Given the description of an element on the screen output the (x, y) to click on. 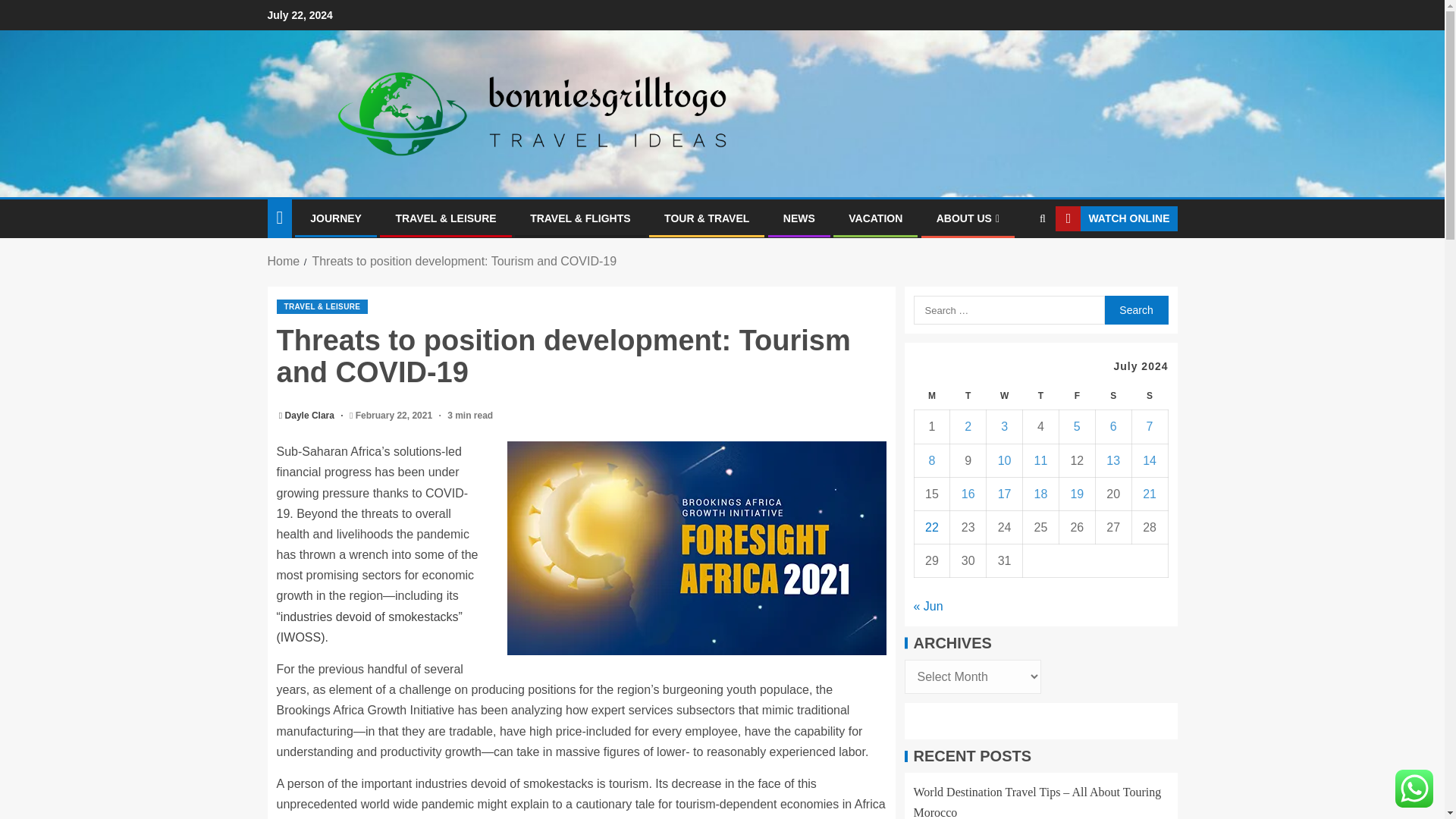
NEWS (799, 218)
WATCH ONLINE (1115, 218)
Threats to position development: Tourism and COVID-19 (463, 260)
VACATION (875, 218)
Thursday (1041, 396)
Friday (1076, 396)
ABOUT US (967, 218)
Home (282, 260)
Monday (932, 396)
Search (1135, 309)
Search (1013, 265)
Dayle Clara (311, 415)
Saturday (1112, 396)
Search (1135, 309)
JOURNEY (335, 218)
